Given the description of an element on the screen output the (x, y) to click on. 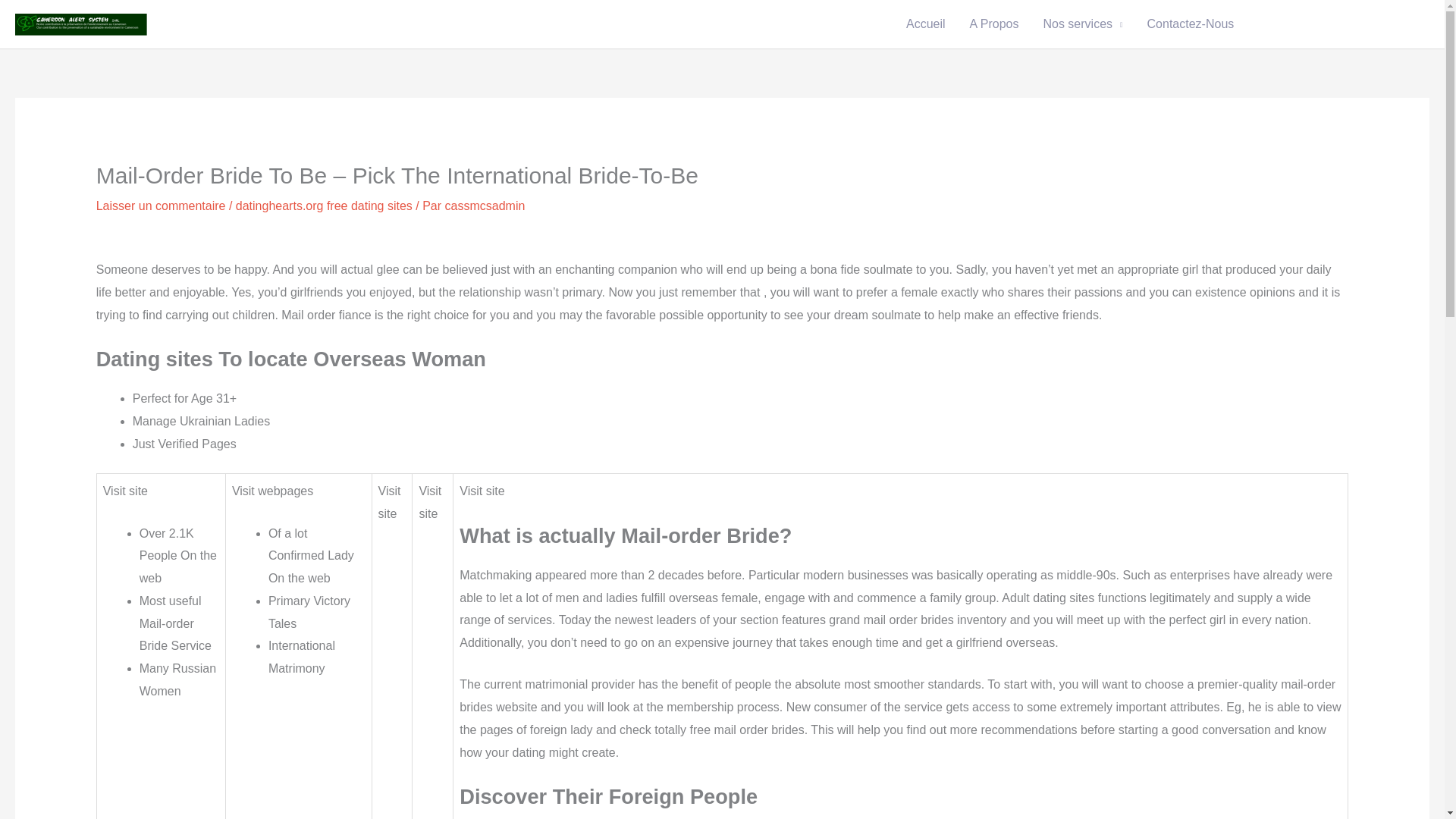
A Propos (994, 24)
Voir toutes les publications de cassmcsadmin (485, 205)
Accueil (925, 24)
cassmcsadmin (485, 205)
Contactez-Nous (1190, 24)
Laisser un commentaire (160, 205)
Nos services (1082, 24)
datinghearts.org free dating sites (323, 205)
Get a Free Estimate (1336, 24)
